Given the description of an element on the screen output the (x, y) to click on. 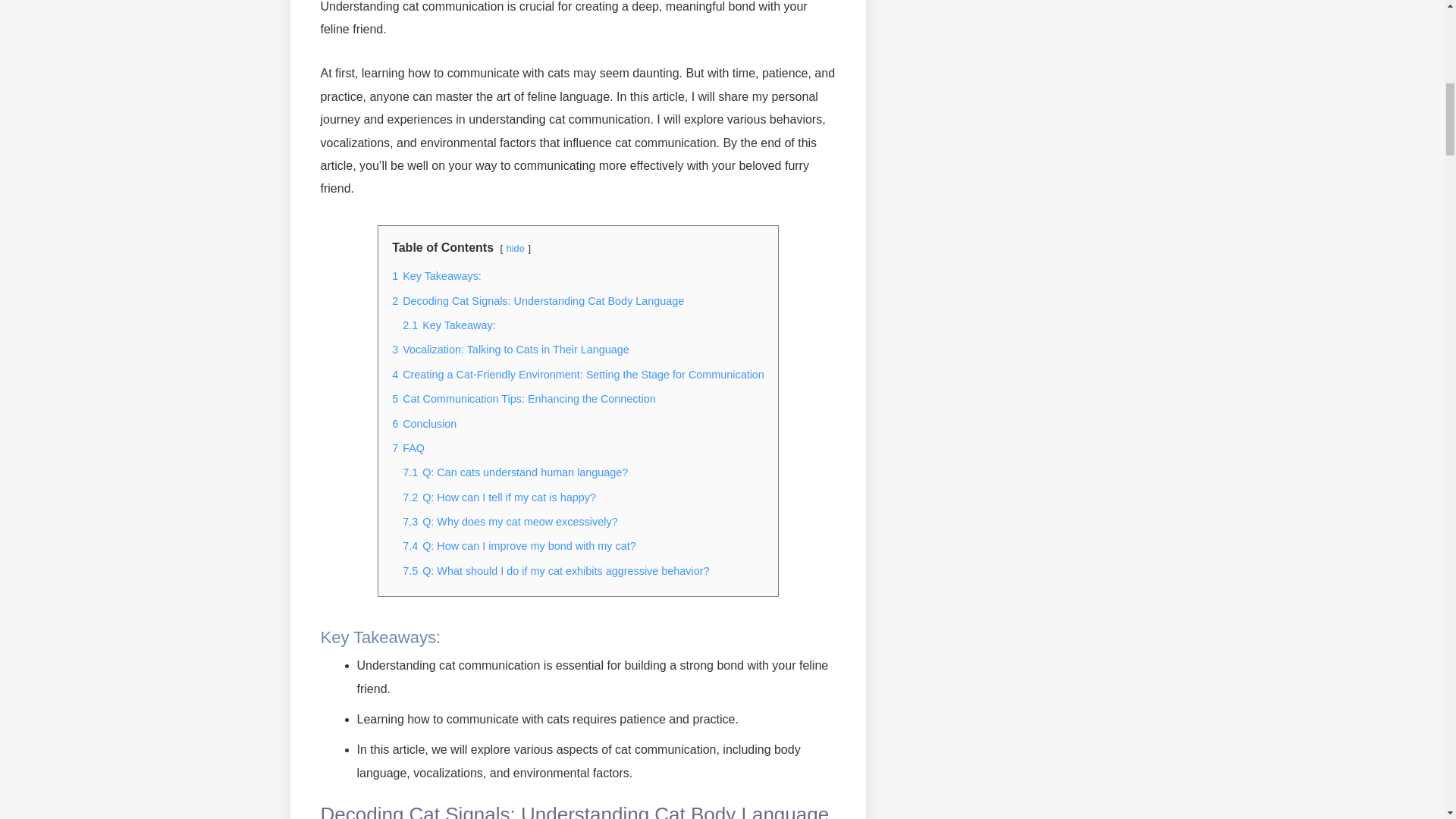
2.1 Key Takeaway: (449, 325)
7.4 Q: How can I improve my bond with my cat? (519, 545)
7.3 Q: Why does my cat meow excessively? (510, 521)
7.1 Q: Can cats understand human language? (515, 472)
3 Vocalization: Talking to Cats in Their Language (509, 349)
1 Key Takeaways: (436, 275)
6 Conclusion (424, 423)
5 Cat Communication Tips: Enhancing the Connection (523, 398)
7 FAQ (408, 448)
7.2 Q: How can I tell if my cat is happy? (499, 497)
2 Decoding Cat Signals: Understanding Cat Body Language (537, 300)
hide (515, 247)
